Given the description of an element on the screen output the (x, y) to click on. 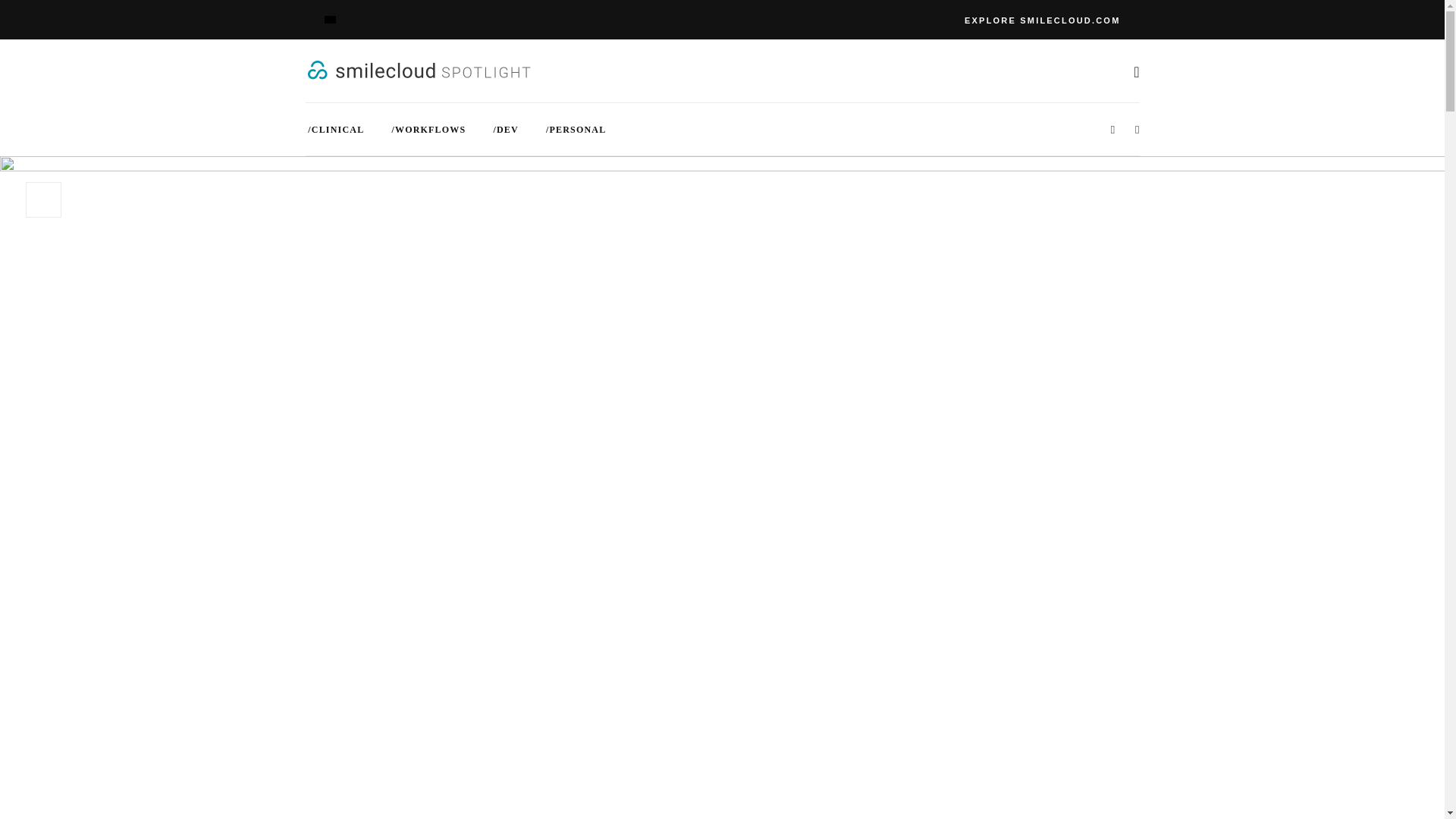
EXPLORE SMILECLOUD.COM (1041, 19)
